Given the description of an element on the screen output the (x, y) to click on. 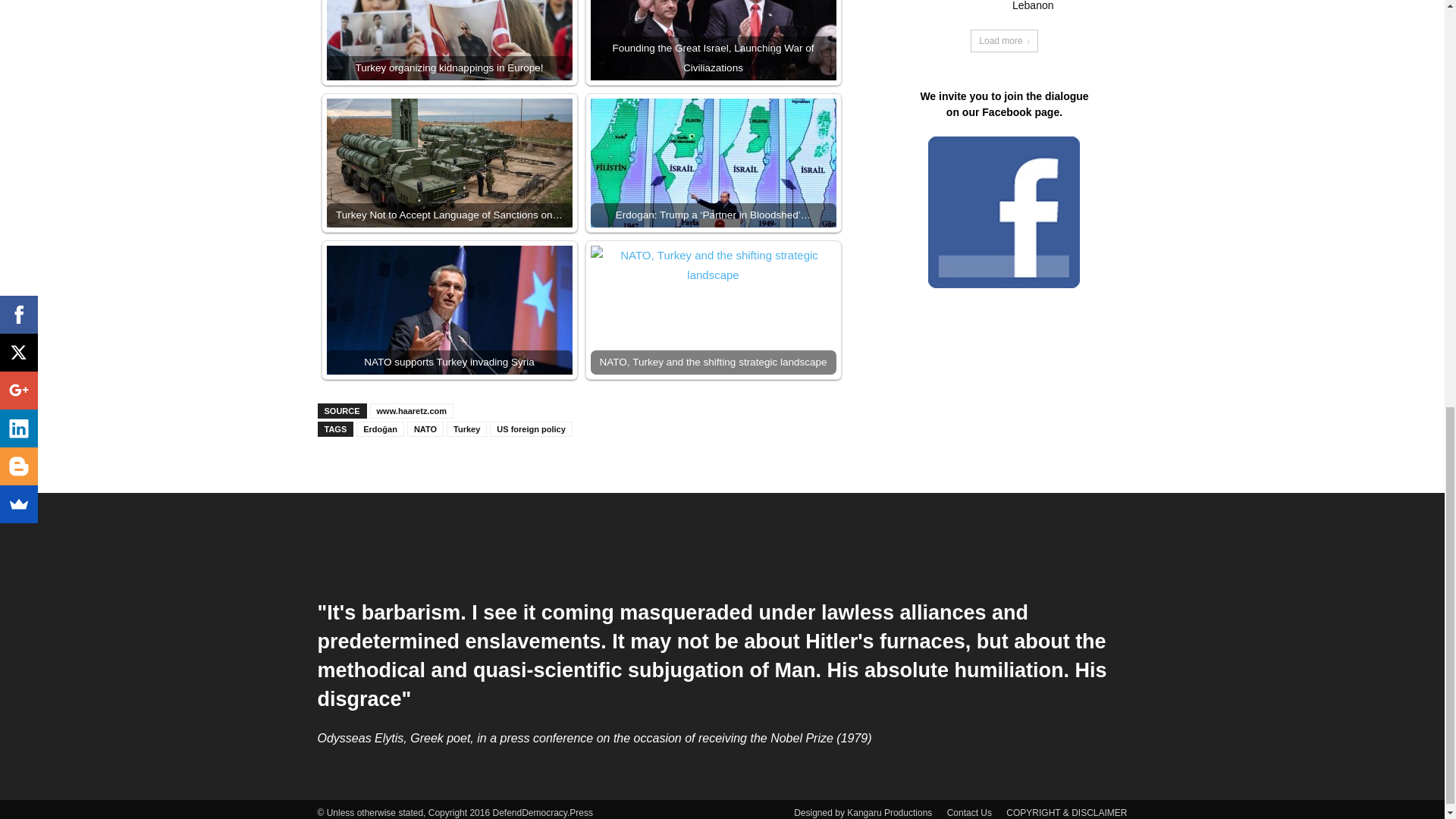
Turkey organizing kidnappings in Europe! (449, 40)
NATO supports Turkey invading Syria (449, 309)
Founding the Great Israel, Launching War of Civiliazations (712, 40)
